Given the description of an element on the screen output the (x, y) to click on. 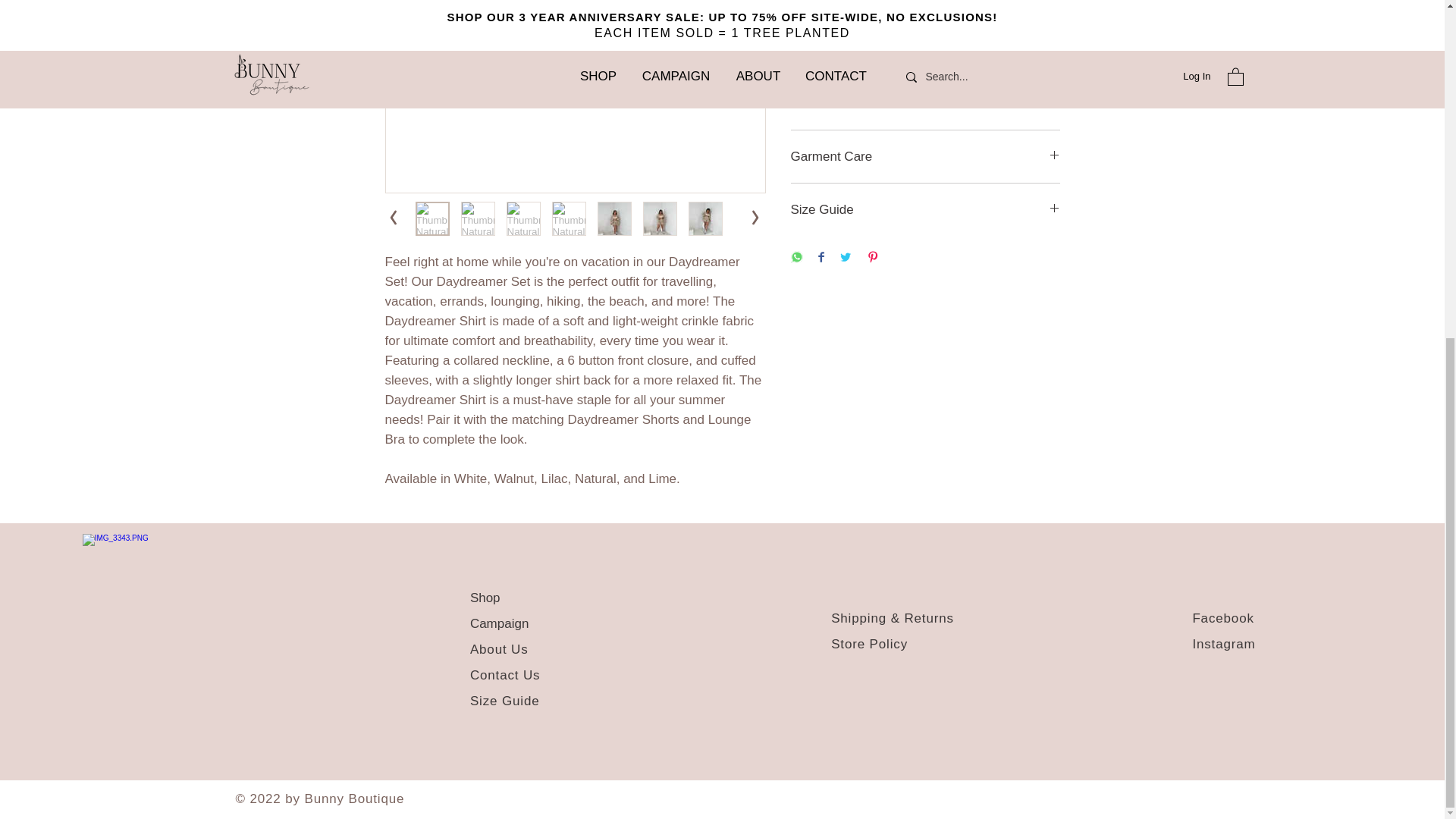
Buy Now (924, 14)
Product Details (924, 73)
